Given the description of an element on the screen output the (x, y) to click on. 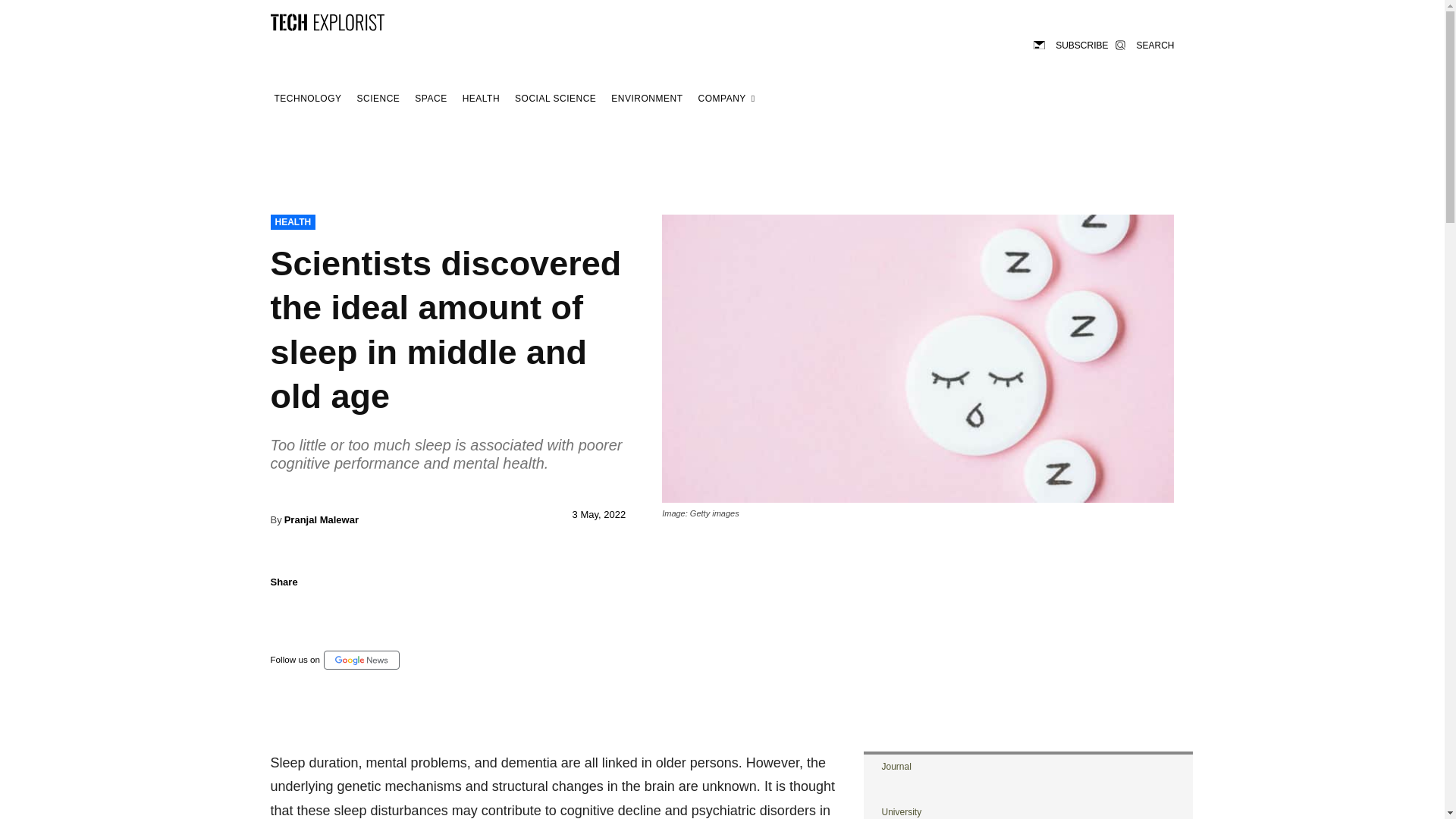
HEALTH (292, 222)
SEARCH (1144, 44)
Health (480, 98)
COMPANY (726, 98)
ENVIRONMENT (646, 98)
SCIENCE (378, 98)
TECHNOLOGY (307, 98)
SUBSCRIBE (1070, 44)
Tech Explorist (326, 21)
